Given the description of an element on the screen output the (x, y) to click on. 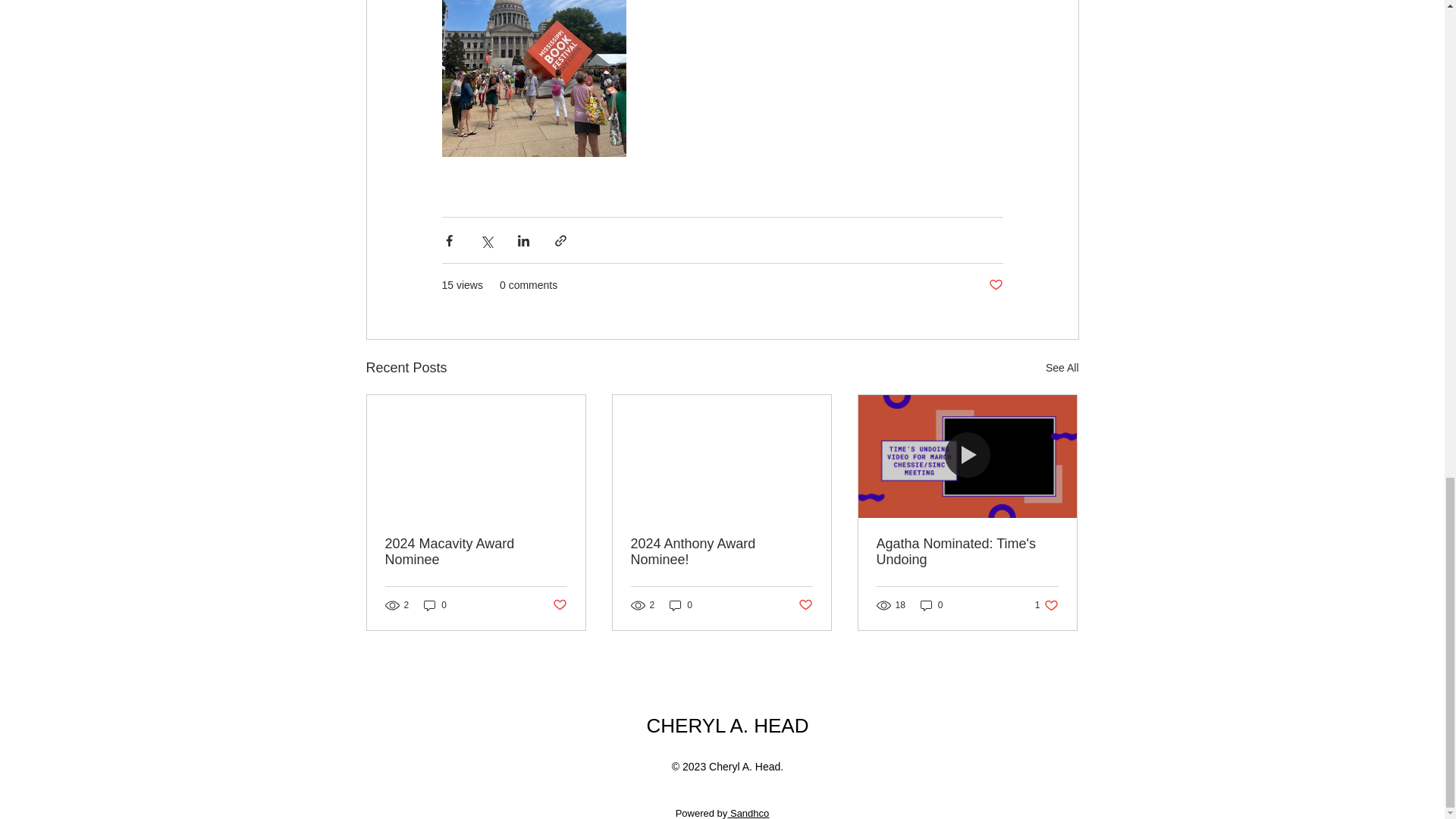
0 (931, 605)
Post not marked as liked (558, 604)
2024 Anthony Award Nominee! (721, 552)
CHERYL A. HEAD (727, 725)
2024 Macavity Award Nominee (476, 552)
0 (435, 605)
Agatha Nominated: Time's Undoing (967, 552)
Post not marked as liked (804, 604)
See All (1061, 368)
0 (681, 605)
Post not marked as liked (1046, 605)
